Given the description of an element on the screen output the (x, y) to click on. 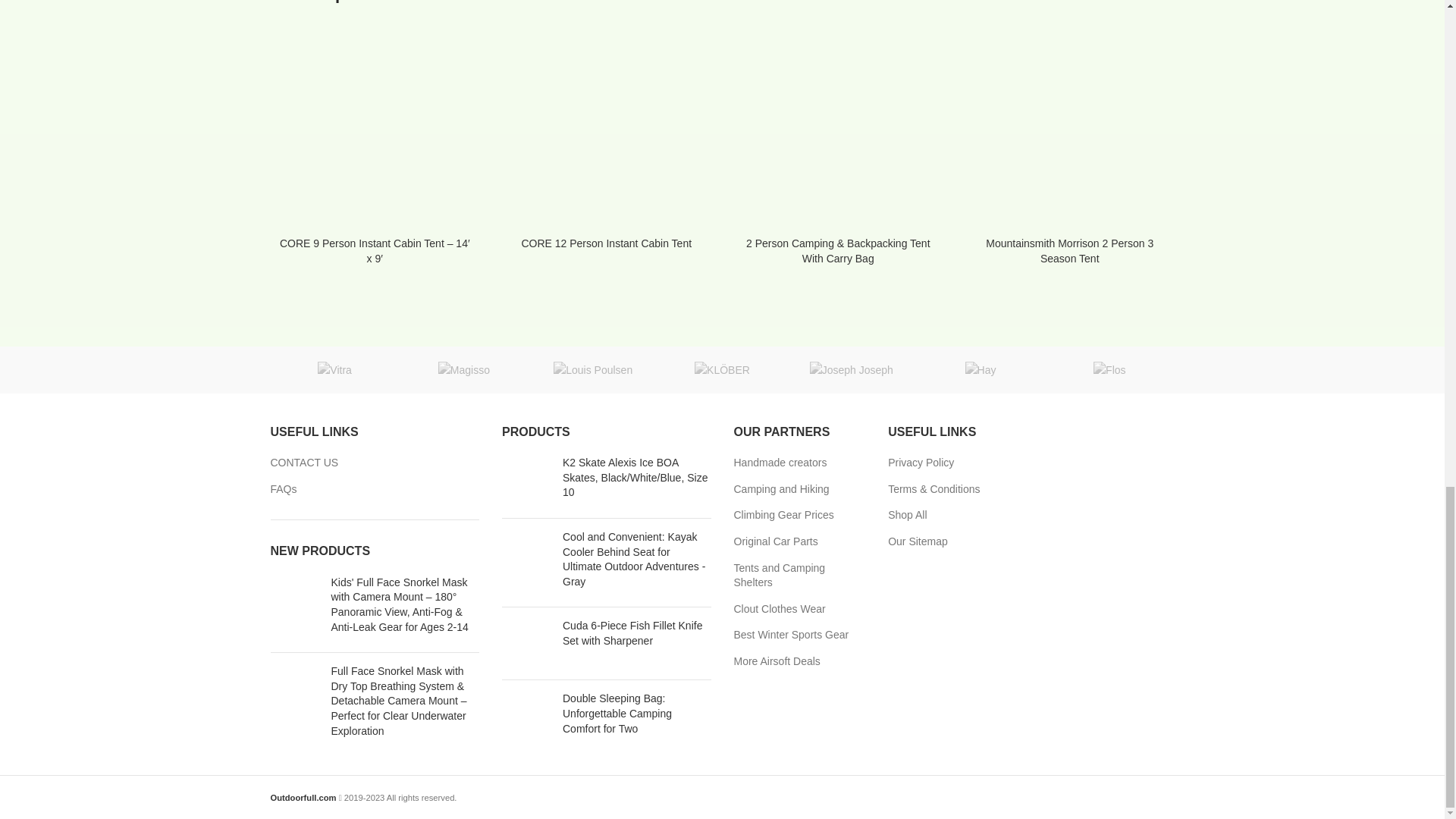
Louis Poulsen (593, 369)
Magisso (463, 369)
Vitra (333, 369)
Magisso (463, 369)
Vitra (334, 369)
